Given the description of an element on the screen output the (x, y) to click on. 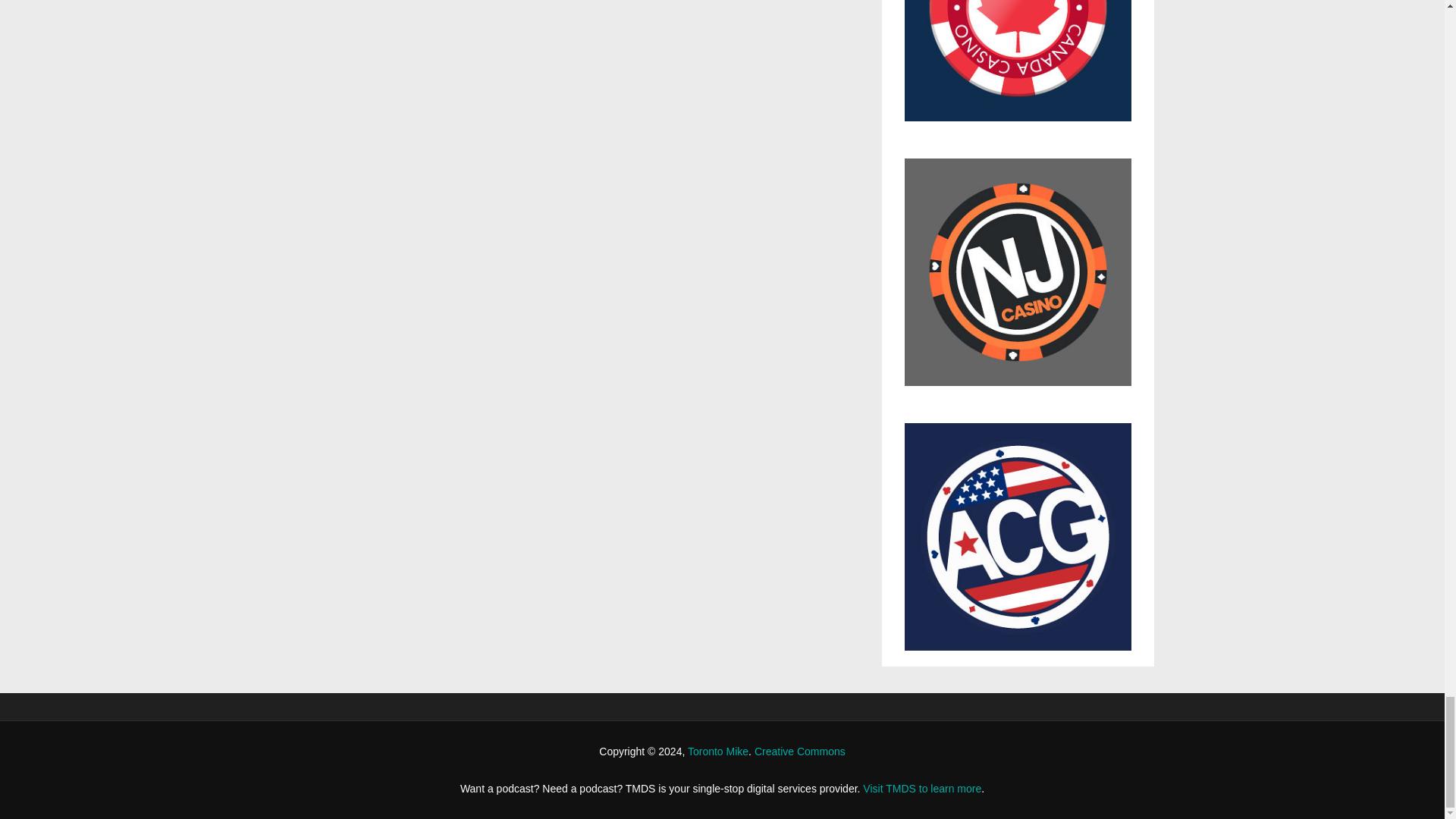
acg casino (1017, 536)
nj casino (1017, 279)
canada casino (1017, 68)
